Given the description of an element on the screen output the (x, y) to click on. 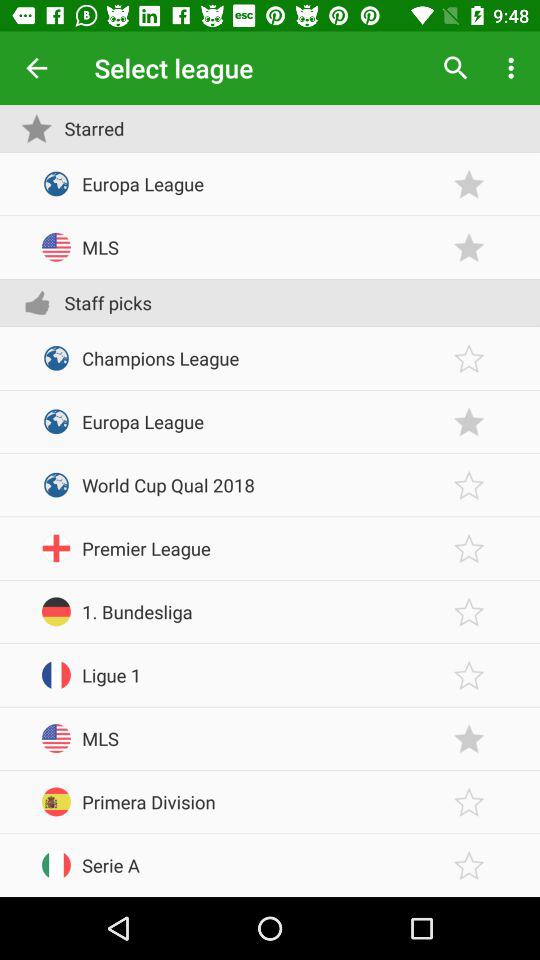
favorite a league (469, 548)
